Given the description of an element on the screen output the (x, y) to click on. 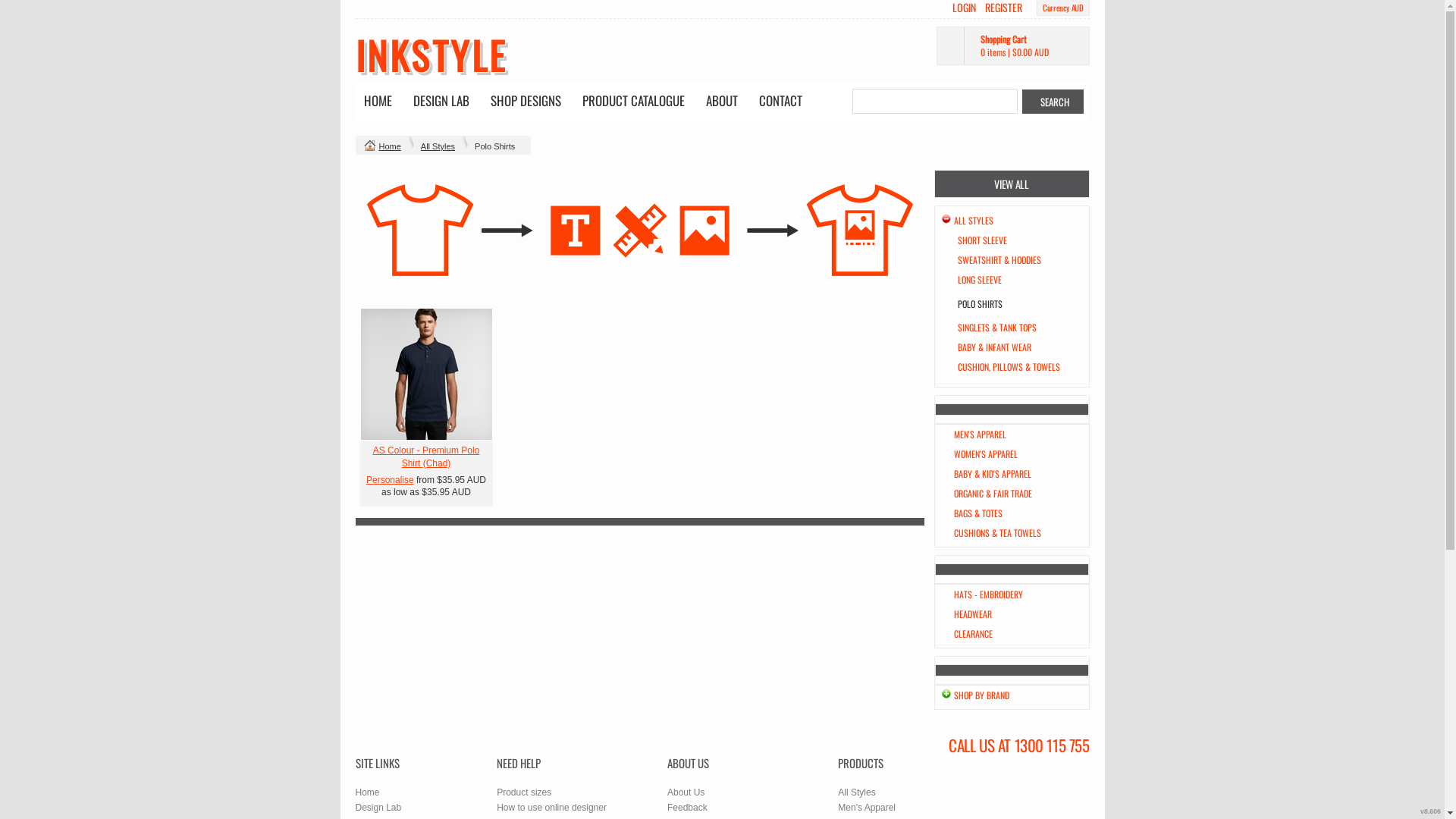
Home Element type: text (390, 145)
BAGS & TOTES Element type: text (977, 512)
Feedback Element type: text (687, 807)
BABY & INFANT WEAR Element type: text (993, 346)
DESIGN LAB Element type: text (441, 101)
Men's Apparel Element type: text (866, 807)
BABY & KID'S APPAREL Element type: text (992, 473)
CONTACT Element type: text (780, 101)
SHORT SLEEVE Element type: text (981, 239)
CUSHION, PILLOWS & TOWELS Element type: text (1008, 366)
SWEATSHIRT & HOODIES Element type: text (998, 259)
SINGLETS & TANK TOPS Element type: text (996, 326)
How to use online designer Element type: text (551, 807)
REGISTER Element type: text (1003, 7)
Product sizes Element type: text (523, 792)
MEN'S APPAREL Element type: text (979, 433)
LONG SLEEVE Element type: text (979, 279)
CLEARANCE Element type: text (972, 633)
WOMEN'S APPAREL Element type: text (985, 453)
About Us Element type: text (685, 792)
ORGANIC & FAIR TRADE Element type: text (992, 492)
SHOP BY BRAND Element type: text (981, 694)
Personalise Element type: text (390, 479)
All Styles Element type: text (437, 145)
Shopping Cart
0 items | $0.00 AUD Element type: text (1011, 45)
ABOUT Element type: text (721, 101)
PRODUCT CATALOGUE Element type: text (632, 101)
AS Colour - Premium Polo Shirt (Chad) Element type: text (426, 456)
Currency AUD Element type: text (1062, 7)
INKSTYLE Element type: text (430, 54)
search Element type: text (1052, 101)
All Styles Element type: text (856, 792)
ALL STYLES Element type: text (973, 219)
LOGIN Element type: text (963, 7)
HATS - EMBROIDERY Element type: text (987, 593)
Home Element type: text (366, 792)
HOME Element type: text (377, 101)
Design Lab Element type: text (377, 807)
HEADWEAR Element type: text (972, 613)
CUSHIONS & TEA TOWELS Element type: text (997, 532)
SHOP DESIGNS Element type: text (525, 101)
  Element type: text (425, 373)
